Given the description of an element on the screen output the (x, y) to click on. 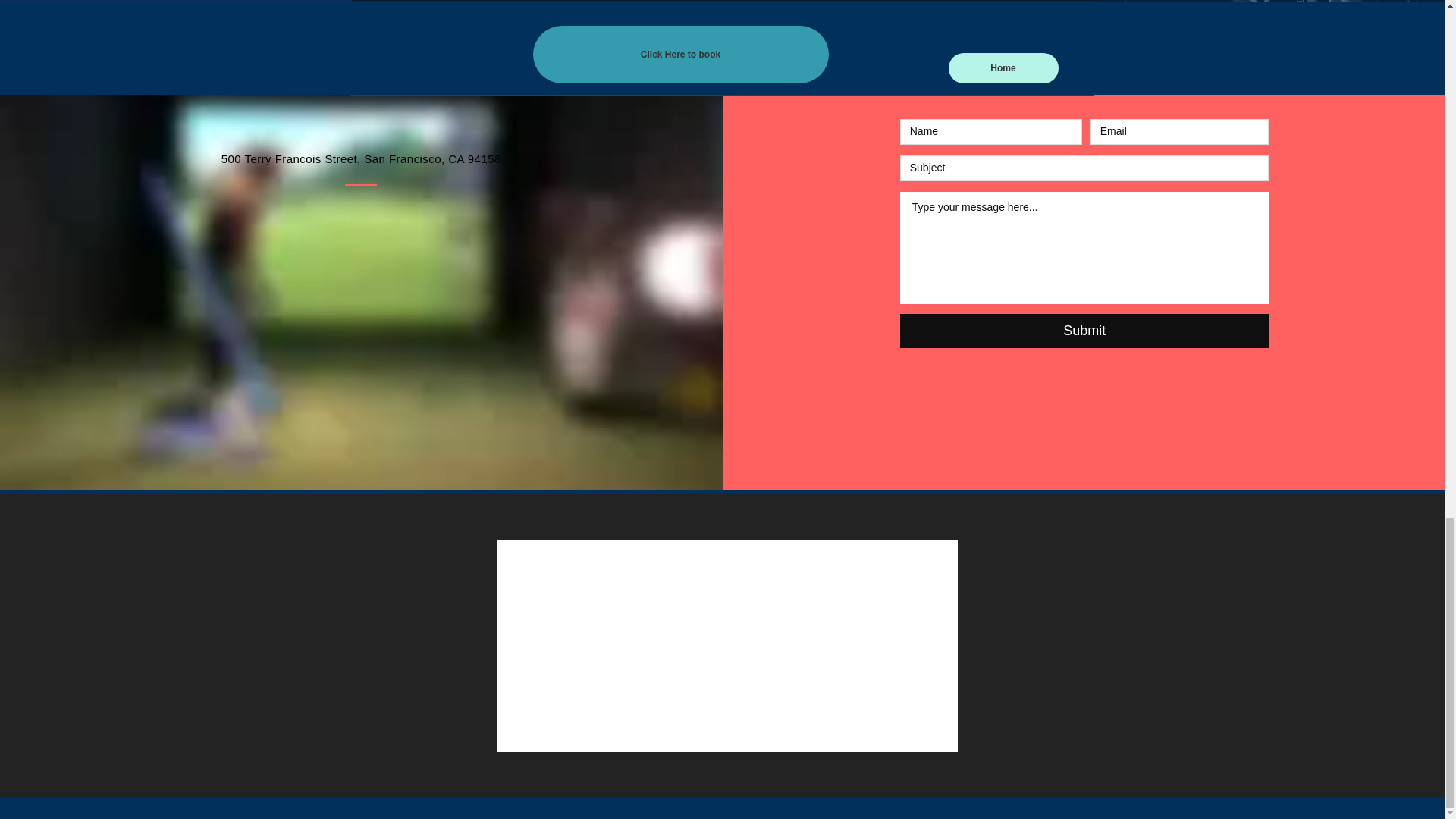
Submit (1084, 330)
